Given the description of an element on the screen output the (x, y) to click on. 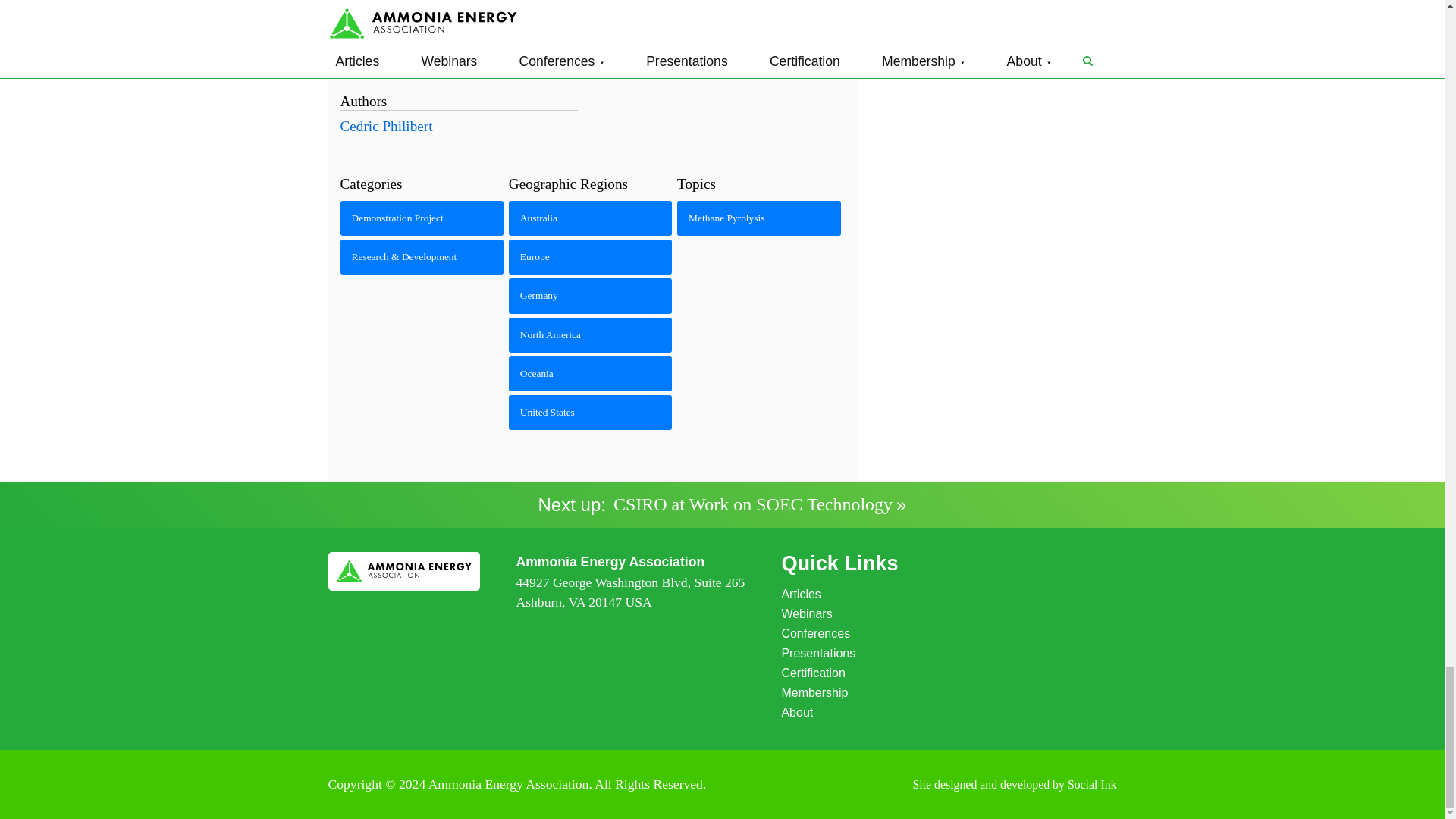
See other items in United States Geographic Regions (590, 411)
See other items in Oceania Geographic Regions (590, 373)
See other items in Methane Pyrolysis Topics (759, 217)
See other items in Europe Geographic Regions (590, 256)
See other items in North America Geographic Regions (590, 334)
See other items in Australia Geographic Regions (590, 217)
See other items in Demonstration Project Categories (421, 217)
See other items in Germany Geographic Regions (590, 295)
